Given the description of an element on the screen output the (x, y) to click on. 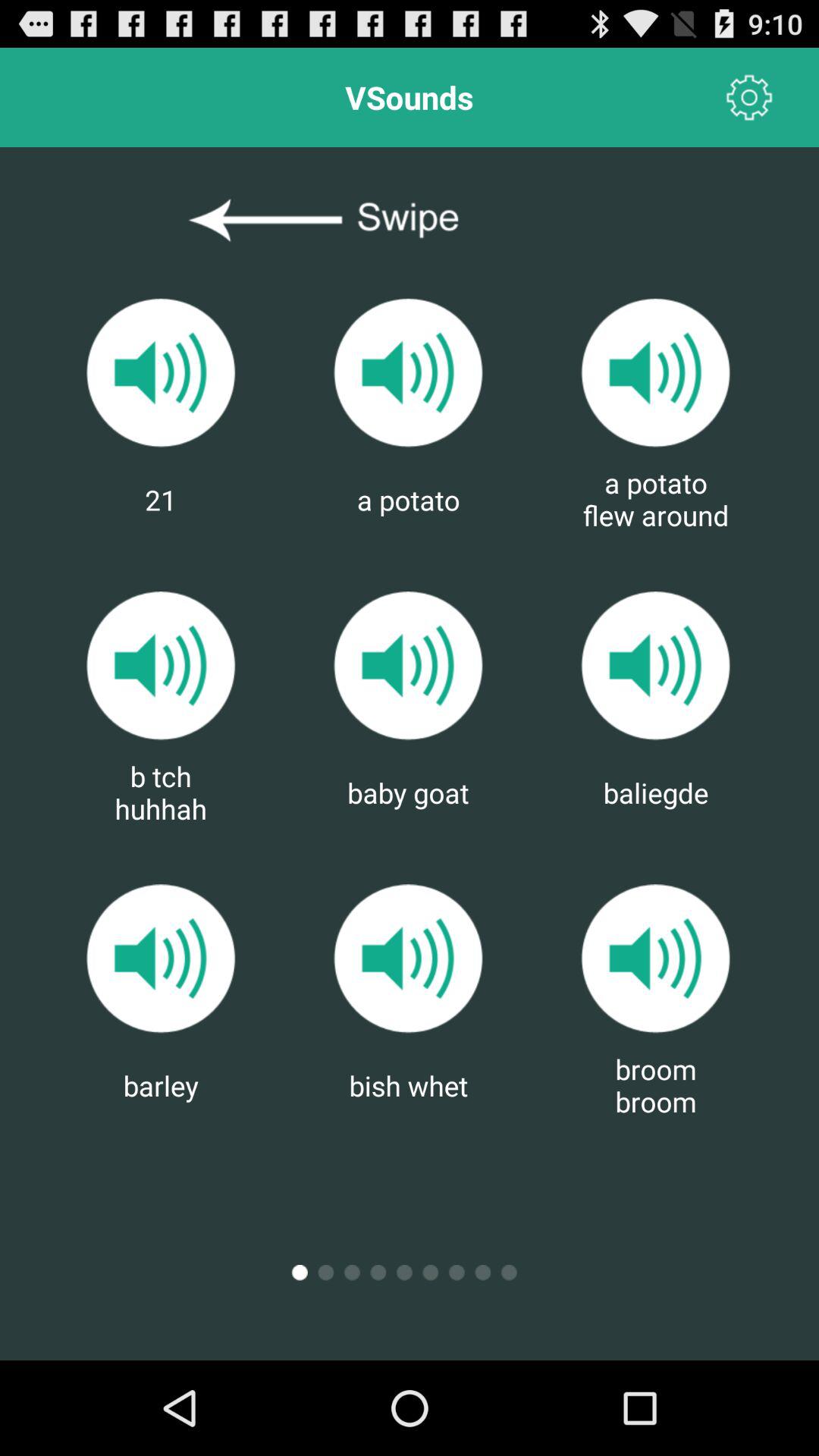
tap to setting (749, 97)
